Given the description of an element on the screen output the (x, y) to click on. 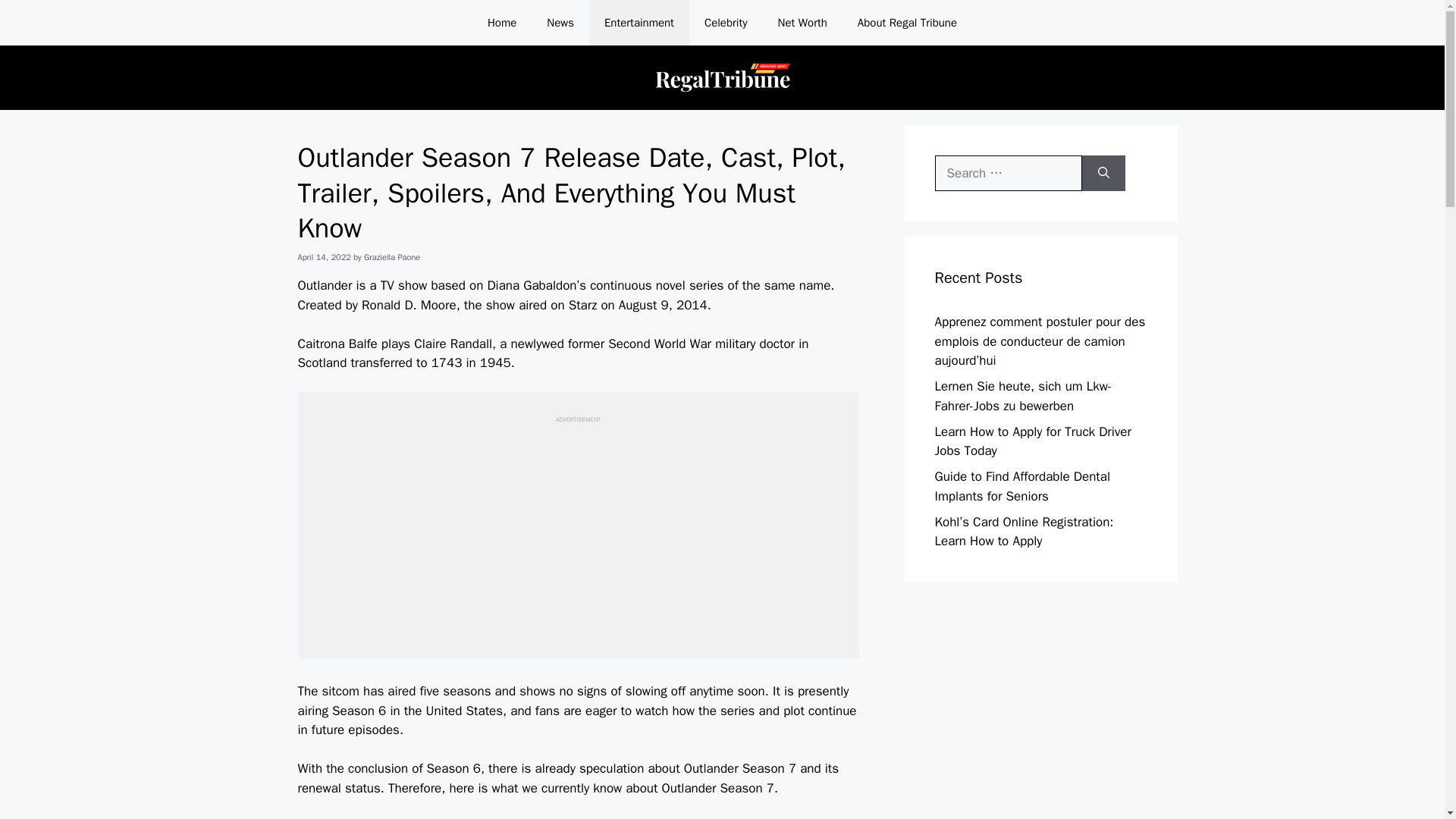
Search for: (1007, 173)
Entertainment (638, 22)
View all posts by Graziella Paone (392, 256)
About Regal Tribune (907, 22)
Advertisement (577, 530)
Net Worth (802, 22)
Learn How to Apply for Truck Driver Jobs Today (1032, 441)
Celebrity (725, 22)
Lernen Sie heute, sich um Lkw-Fahrer-Jobs zu bewerben (1023, 396)
Home (501, 22)
News (560, 22)
Graziella Paone (392, 256)
Guide to Find Affordable Dental Implants for Seniors (1021, 486)
